Given the description of an element on the screen output the (x, y) to click on. 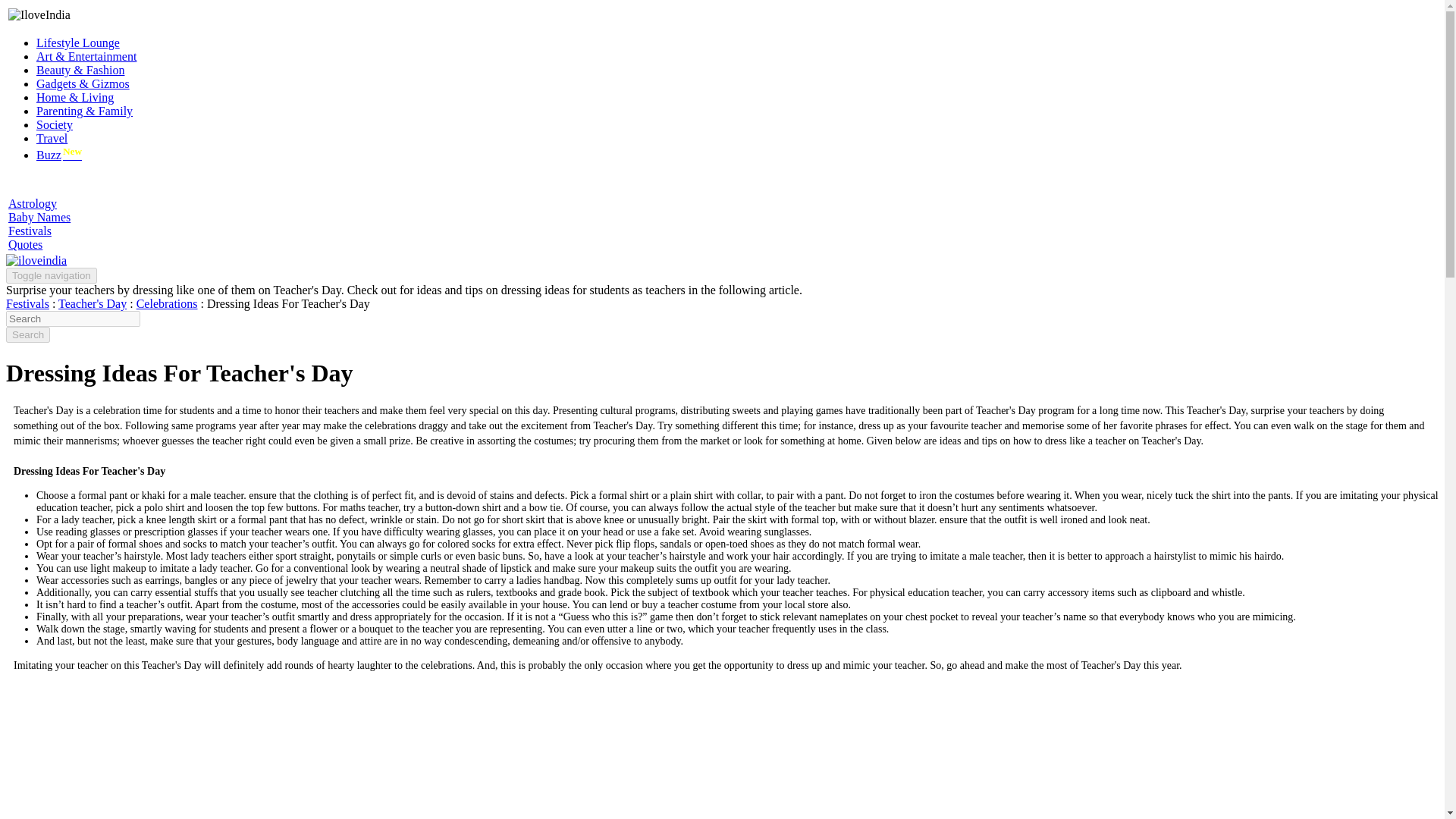
Search (27, 334)
Society (54, 124)
Festivals (29, 230)
Quotes (25, 244)
Travel (51, 137)
Baby Names (38, 216)
Festivals (27, 303)
Toggle navigation (51, 275)
Teacher's Day (92, 303)
Lifestyle Lounge (77, 42)
